Given the description of an element on the screen output the (x, y) to click on. 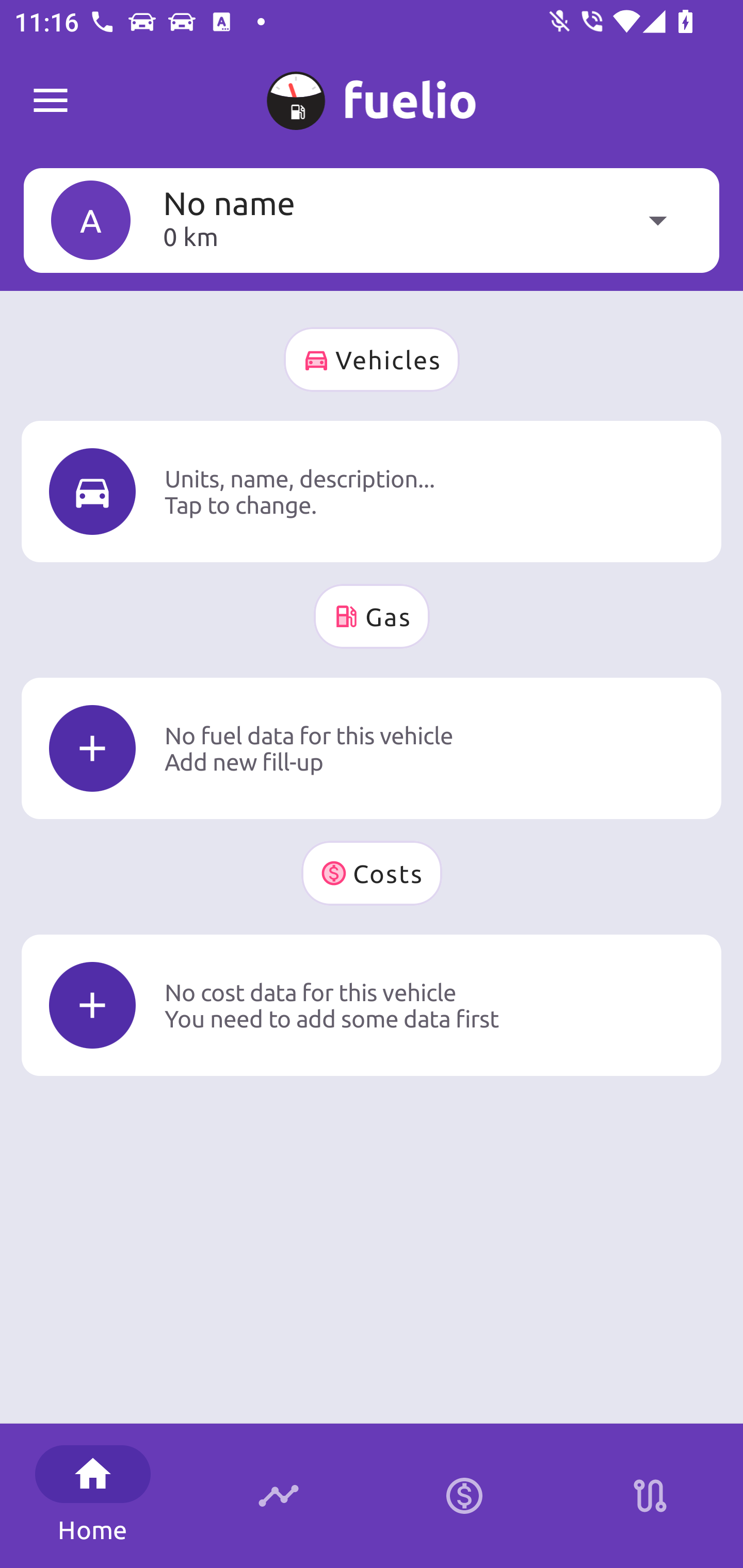
Fuelio (50, 101)
A No name 0 km (371, 219)
Vehicles (371, 359)
Icon Units, name, description...
Tap to change. (371, 491)
Icon (92, 491)
Gas (371, 616)
Icon No fuel data for this vehicle
Add new fill-up (371, 747)
Icon (92, 748)
Costs (371, 873)
Icon (92, 1004)
Timeline (278, 1495)
Calculator (464, 1495)
Stations on route (650, 1495)
